Given the description of an element on the screen output the (x, y) to click on. 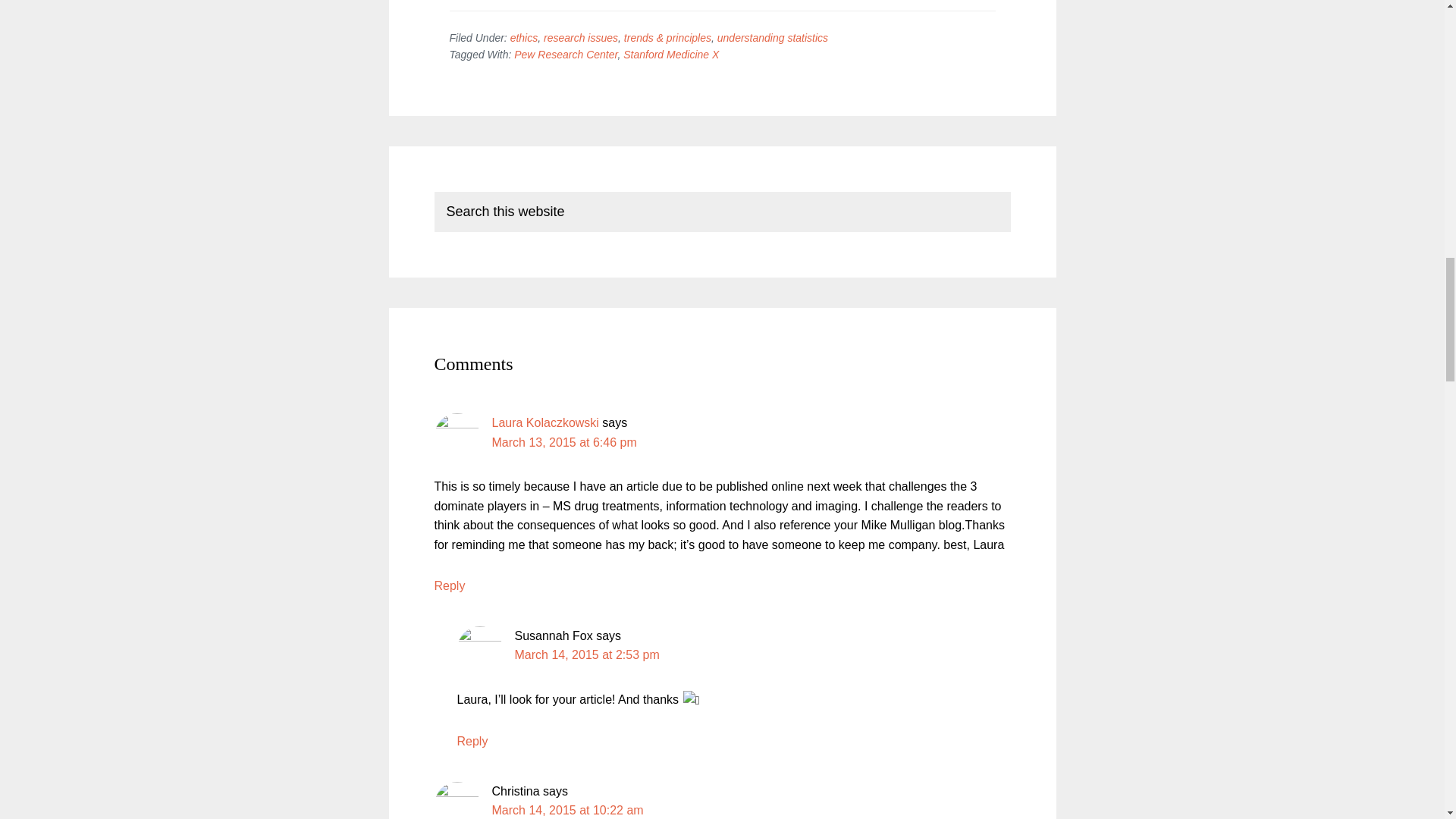
ethics (524, 37)
Stanford Medicine X (671, 54)
research issues (580, 37)
understanding statistics (772, 37)
Laura Kolaczkowski (545, 422)
Pew Research Center (565, 54)
